Given the description of an element on the screen output the (x, y) to click on. 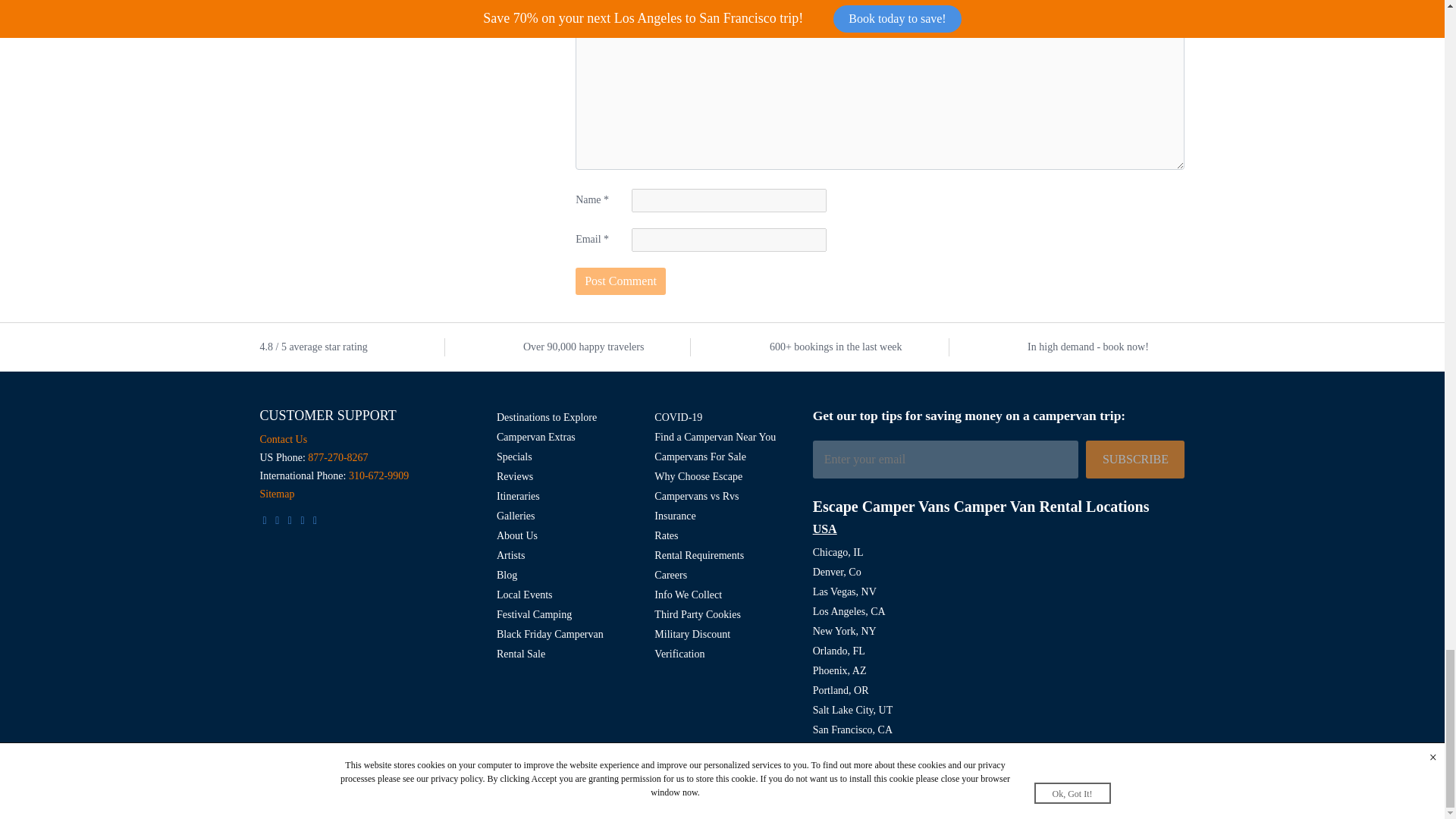
Subscribe (1135, 459)
Post Comment (620, 280)
